Given the description of an element on the screen output the (x, y) to click on. 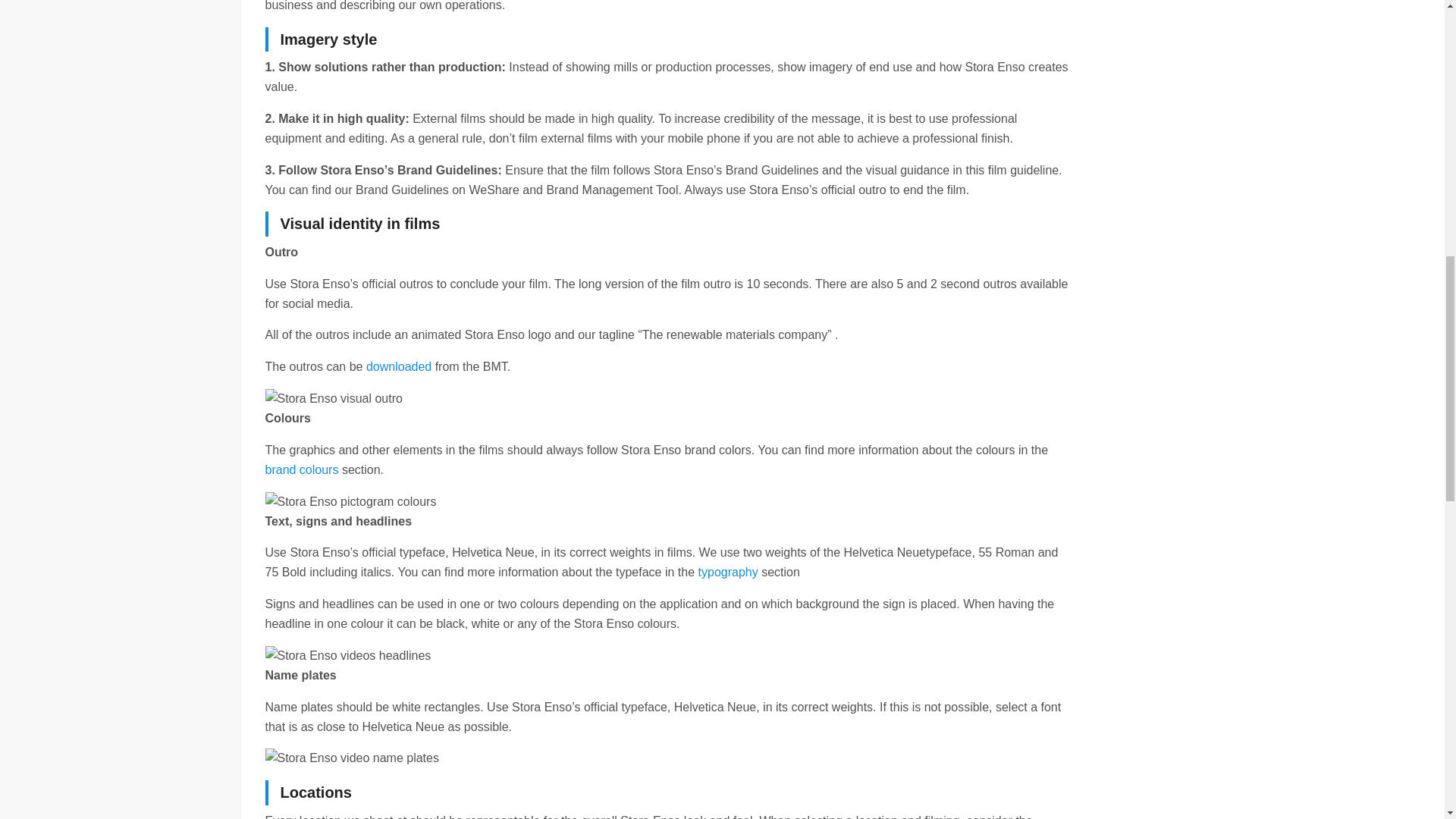
Stora Enso pictogram colours (350, 501)
brand colours (301, 469)
typography (728, 571)
downloaded (398, 366)
Stora Enso video name plates (351, 758)
Stora Enso visual outro (333, 398)
Stora Enso videos headlines (347, 655)
